Given the description of an element on the screen output the (x, y) to click on. 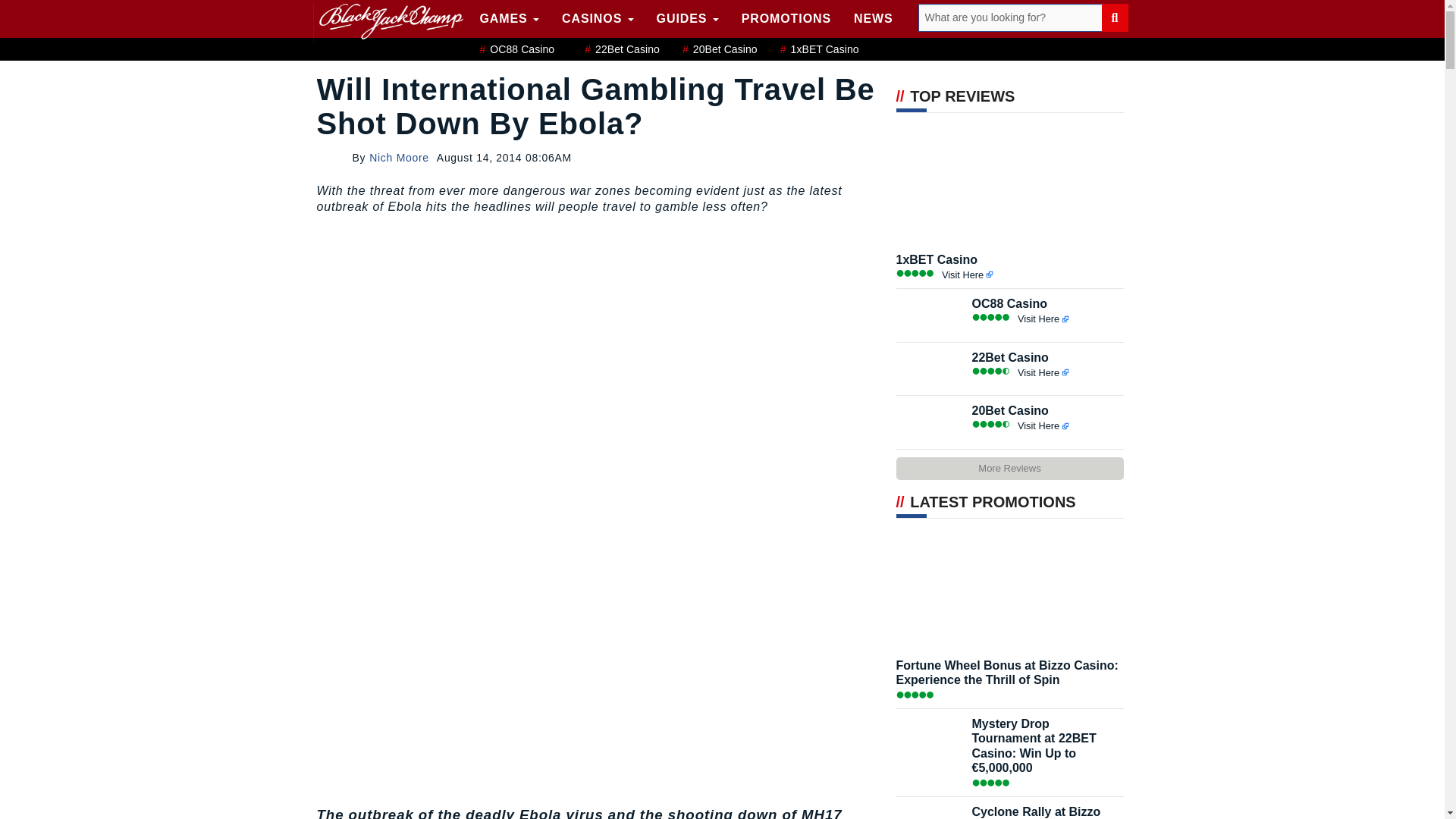
20Bet Casino (719, 49)
PROMOTIONS (786, 18)
GUIDES (687, 18)
1xBET Casino (819, 49)
NEWS (873, 18)
Casinos (597, 18)
BlackjackChamp (388, 21)
CASINOS (597, 18)
OC88 Casino (516, 49)
GAMES (509, 18)
Guides (687, 18)
BlackjackChamp (388, 21)
Nich Moore (399, 157)
22Bet Casino (622, 49)
Games (509, 18)
